Given the description of an element on the screen output the (x, y) to click on. 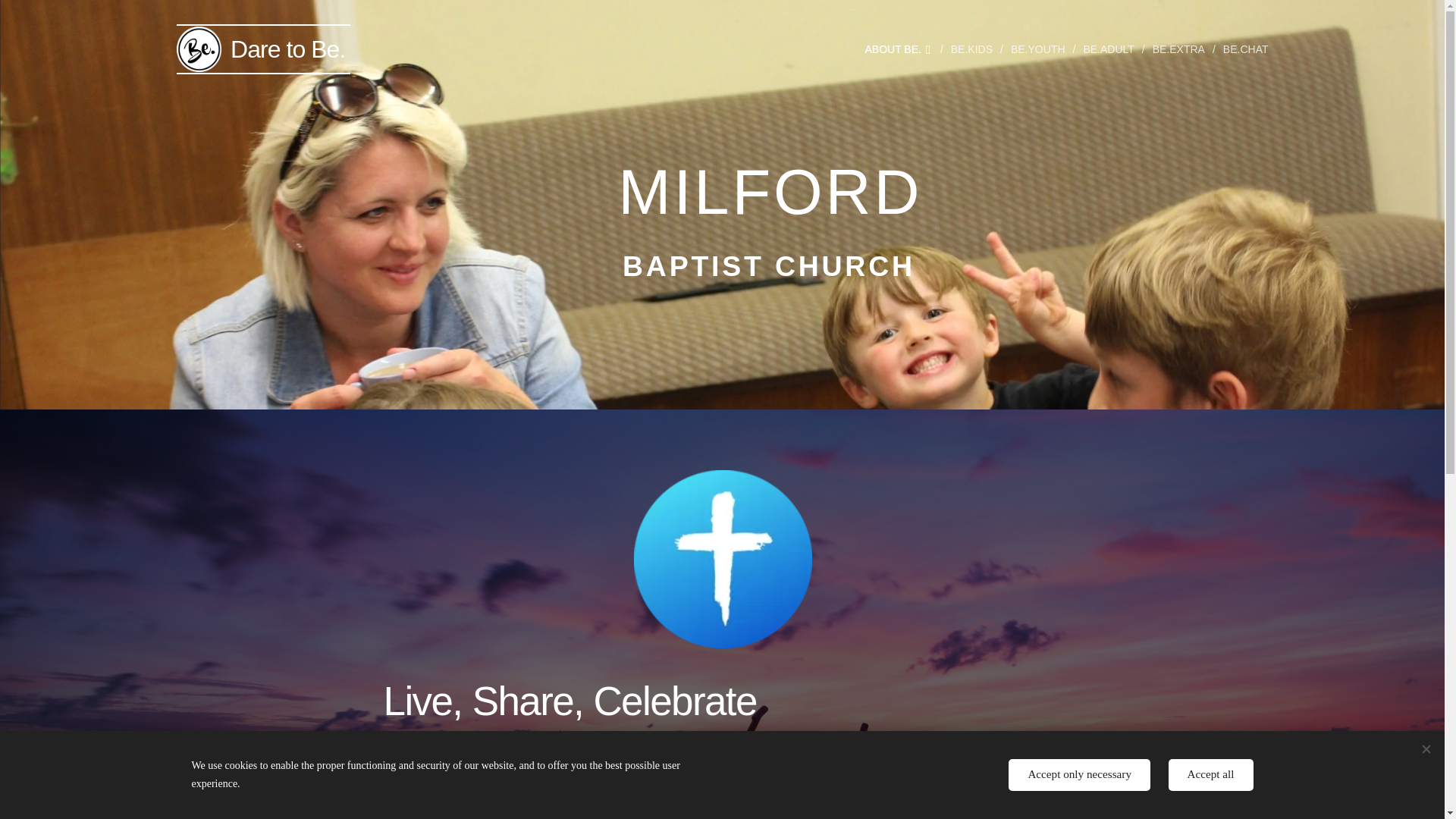
BE.EXTRA (1179, 48)
BE.CHAT (1241, 48)
BE.KIDS (973, 48)
BE.ADULT (1109, 48)
Dare to Be. (263, 48)
Accept only necessary (1079, 774)
Accept all (1211, 774)
BE.YOUTH (1039, 48)
ABOUT BE. (901, 48)
